Given the description of an element on the screen output the (x, y) to click on. 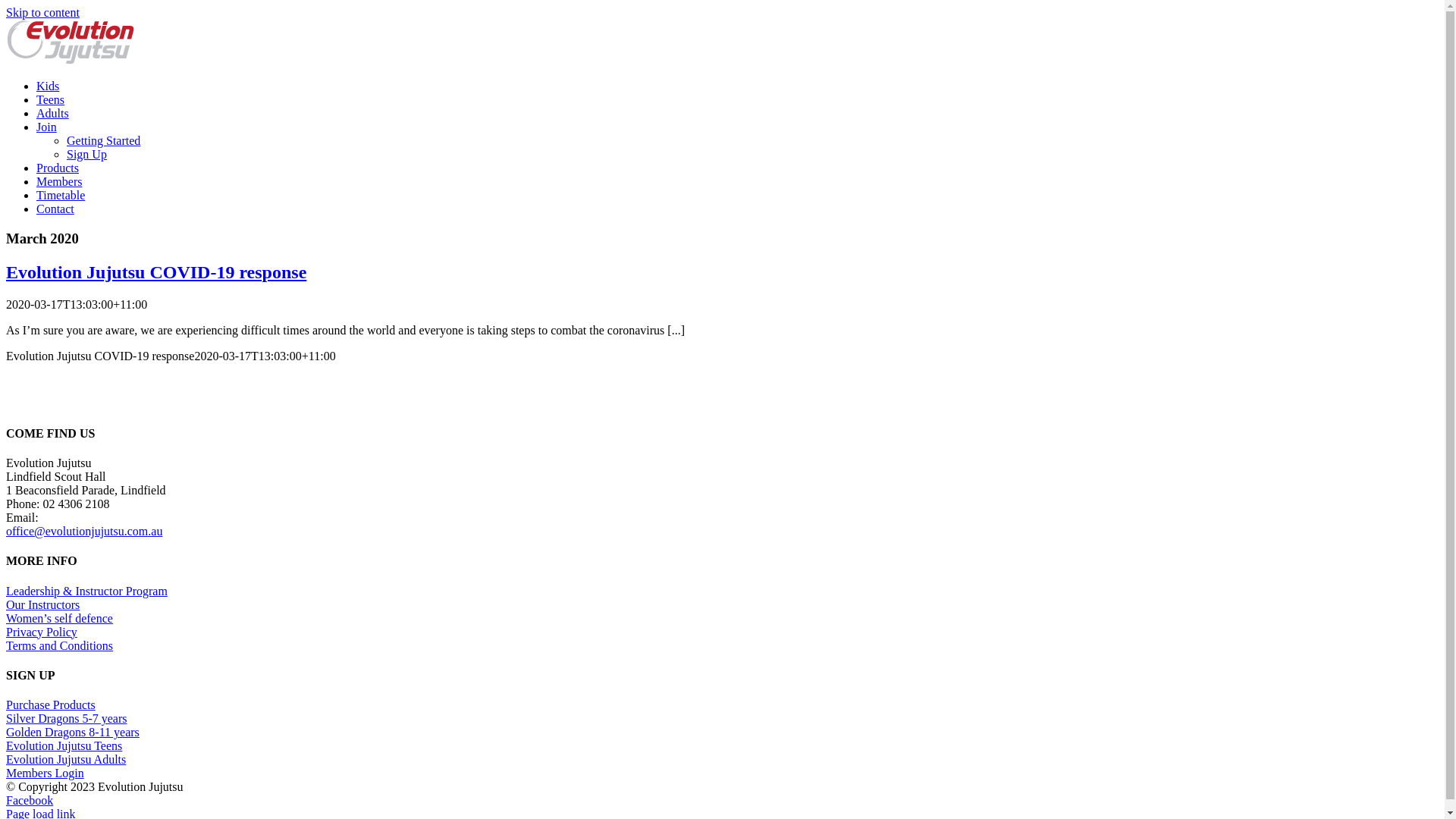
Skip to content Element type: text (42, 12)
Teens Element type: text (50, 99)
Contact Element type: text (55, 208)
Members Login Element type: text (45, 772)
Silver Dragons 5-7 years Element type: text (66, 718)
Golden Dragons 8-11 years Element type: text (72, 731)
Facebook Element type: text (29, 799)
Our Instructors Element type: text (42, 604)
Privacy Policy Element type: text (41, 631)
Evolution Jujutsu Teens Element type: text (64, 745)
Terms and Conditions Element type: text (59, 645)
Kids Element type: text (47, 85)
Members Element type: text (58, 181)
Products Element type: text (57, 167)
Evolution Jujutsu Adults Element type: text (65, 759)
office@evolutionjujutsu.com.au Element type: text (84, 530)
Purchase Products Element type: text (50, 704)
Getting Started Element type: text (103, 140)
Adults Element type: text (52, 112)
Timetable Element type: text (60, 194)
Evolution Jujutsu COVID-19 response Element type: text (156, 272)
Leadership & Instructor Program Element type: text (86, 590)
Sign Up Element type: text (86, 153)
Join Element type: text (46, 126)
